Given the description of an element on the screen output the (x, y) to click on. 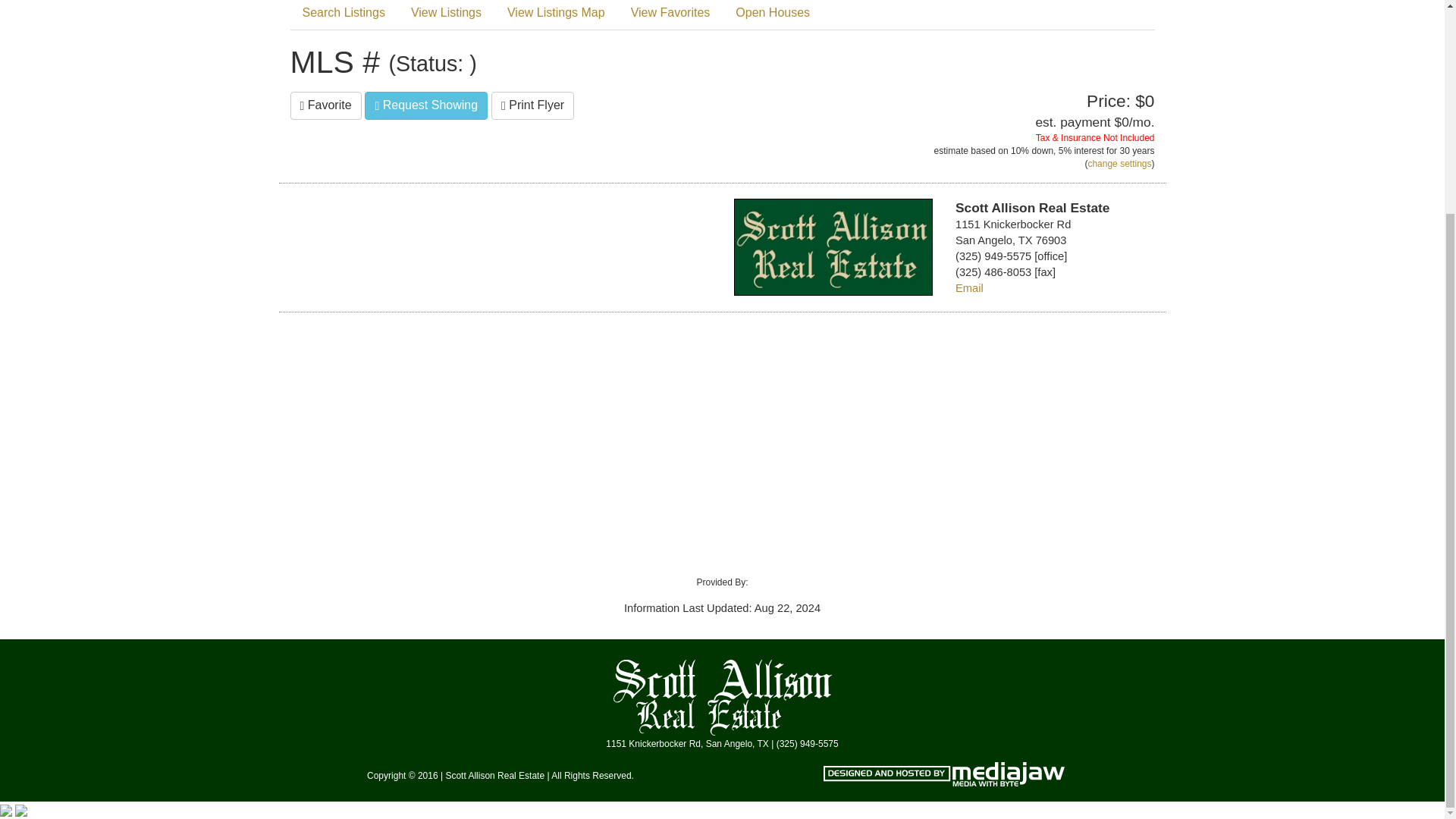
Open Houses (772, 15)
Email (969, 287)
Favorite (325, 105)
change settings (1119, 163)
View Favorites (670, 15)
Request Showing (426, 105)
View Listings Map (556, 15)
Print Flyer (532, 105)
Search Listings (342, 15)
View Listings (445, 15)
